Given the description of an element on the screen output the (x, y) to click on. 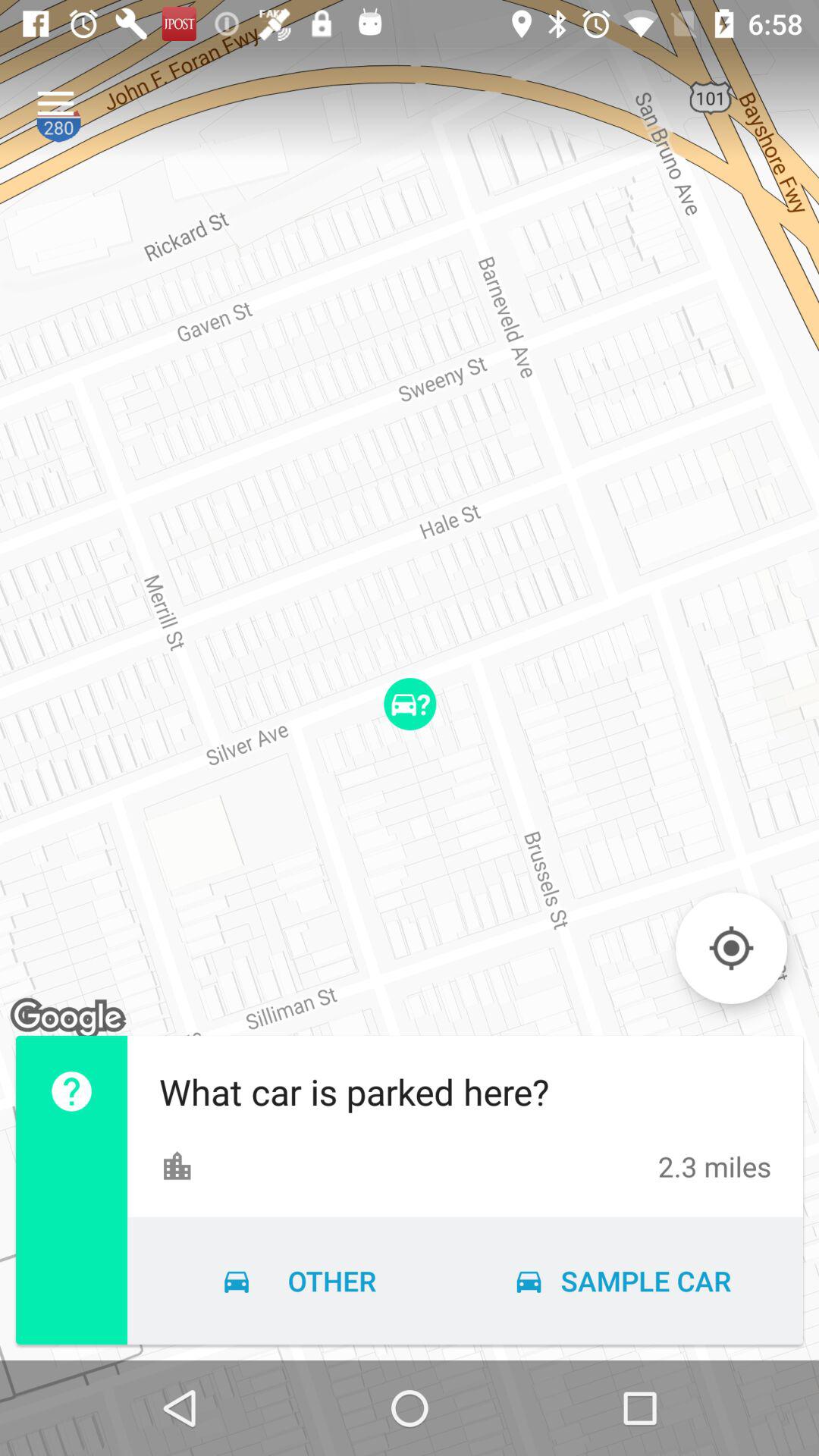
recenter your location (731, 947)
